Given the description of an element on the screen output the (x, y) to click on. 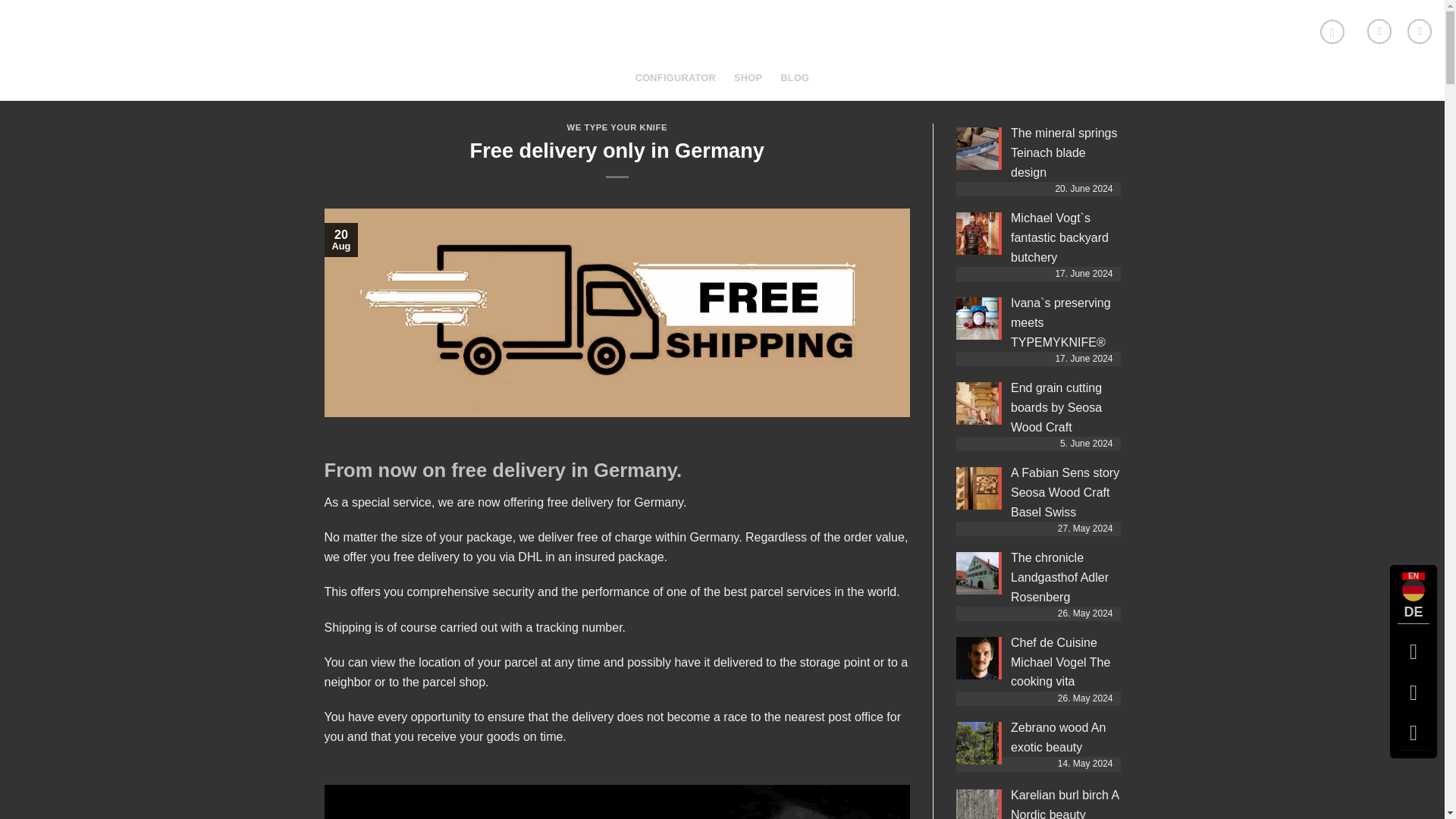
BLOG (794, 78)
A Fabian Sens story Seosa Wood Craft Basel Swiss (1064, 491)
Karelian burl birch A Nordic beauty (1064, 803)
CONFIGURATOR (675, 78)
Chef de Cuisine Michael Vogel The cooking vita (1059, 661)
SHOP (747, 78)
The mineral springs Teinach blade design (1064, 152)
Cart (1379, 30)
Login (1419, 30)
End grain cutting boards by Seosa Wood Craft (1056, 407)
The chronicle Landgasthof Adler Rosenberg (1059, 576)
WE TYPE YOUR KNIFE (616, 126)
Zebrano wood An exotic beauty (1057, 737)
